Given the description of an element on the screen output the (x, y) to click on. 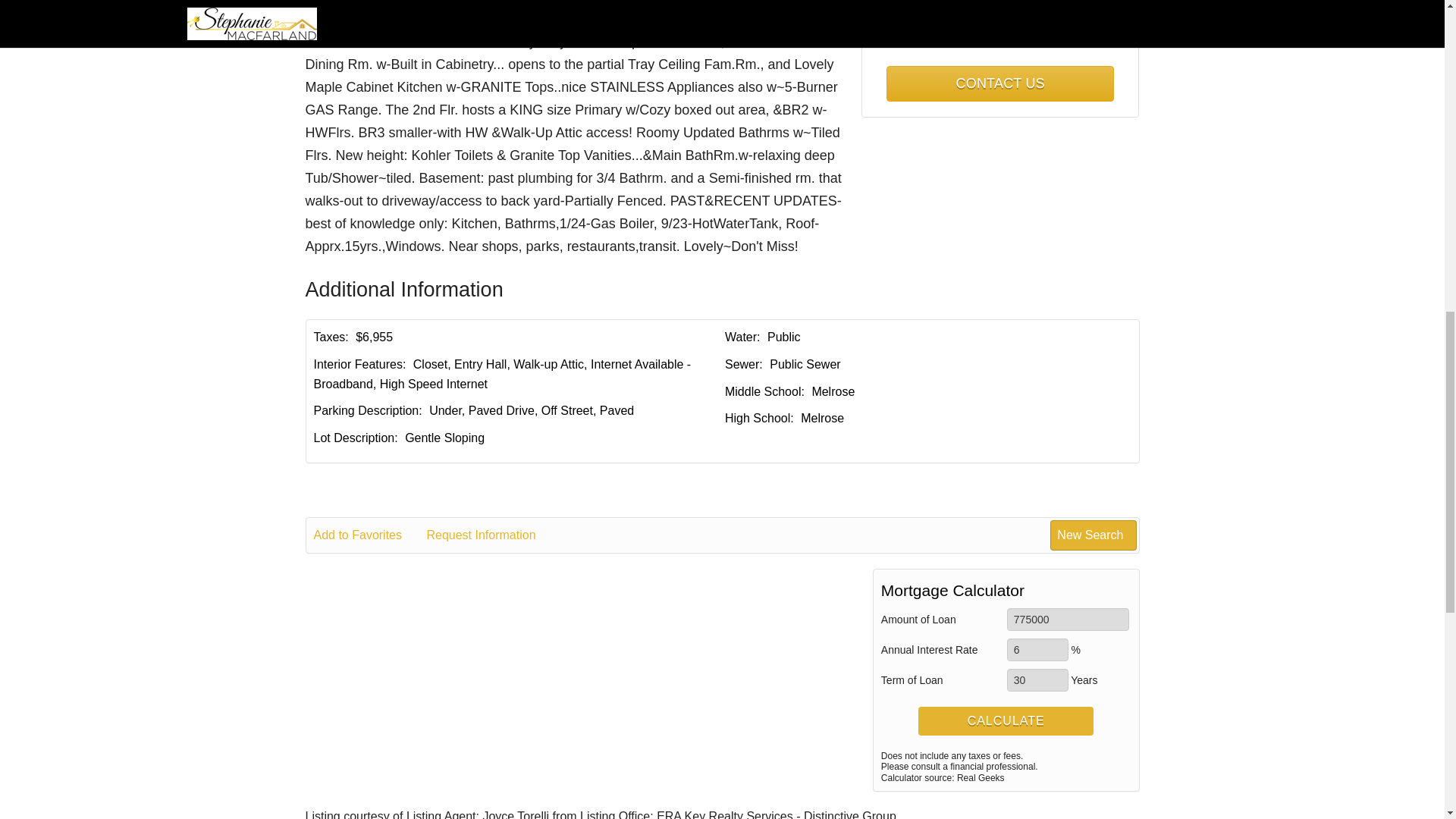
30 (1037, 680)
CONTACT US (999, 83)
6 (1037, 649)
775000 (1068, 619)
